Given the description of an element on the screen output the (x, y) to click on. 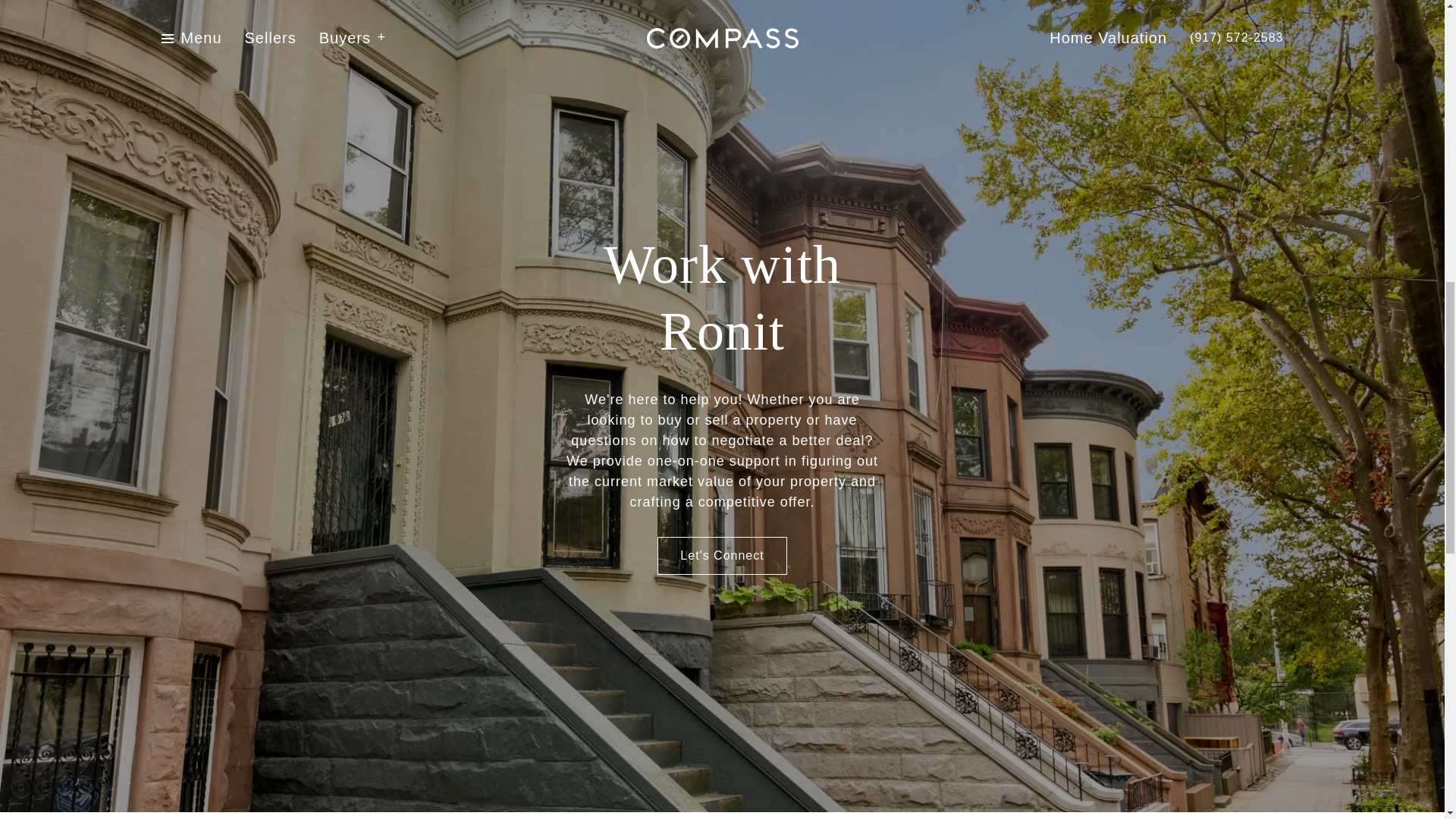
Let'S Connect (722, 555)
